Given the description of an element on the screen output the (x, y) to click on. 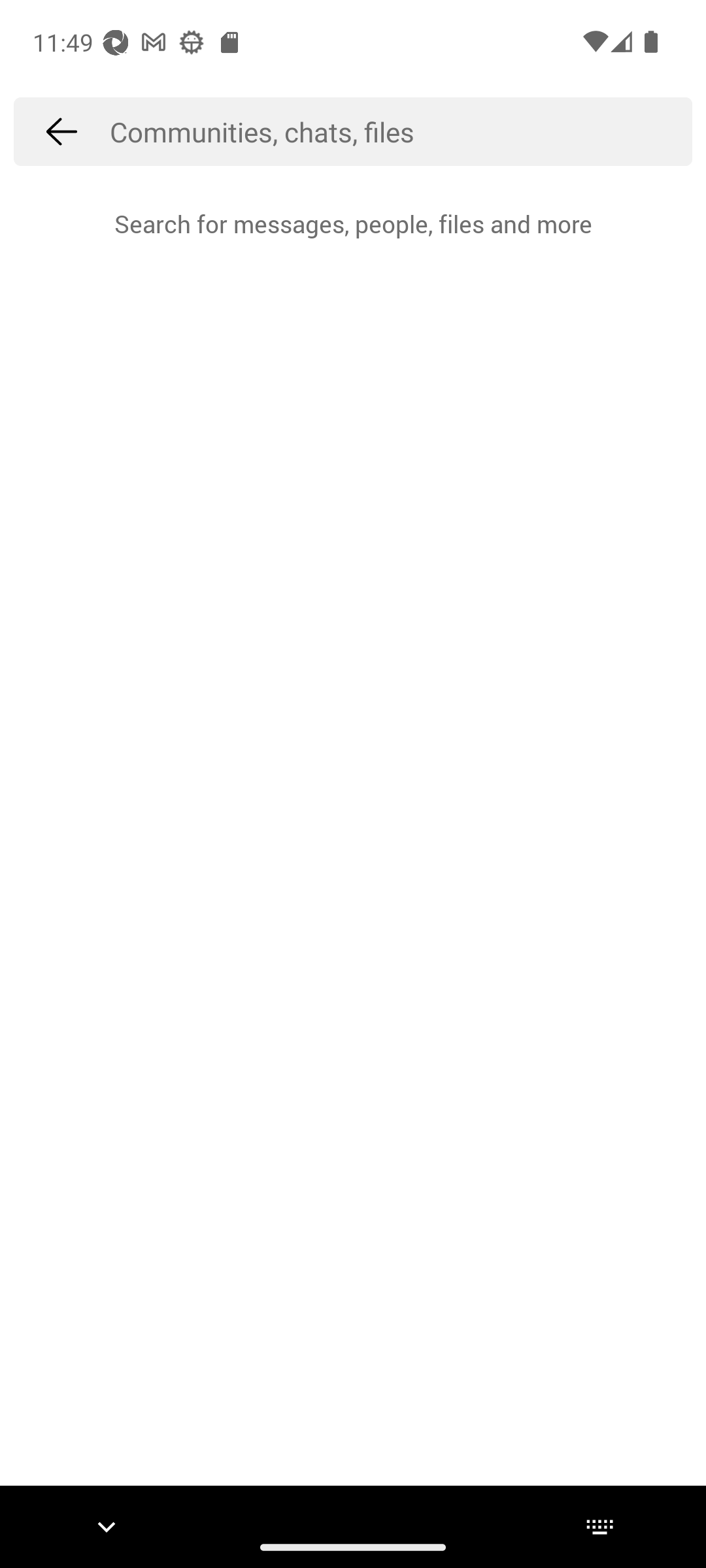
Back (61, 131)
Search for communities, chats, files and more (401, 131)
